Given the description of an element on the screen output the (x, y) to click on. 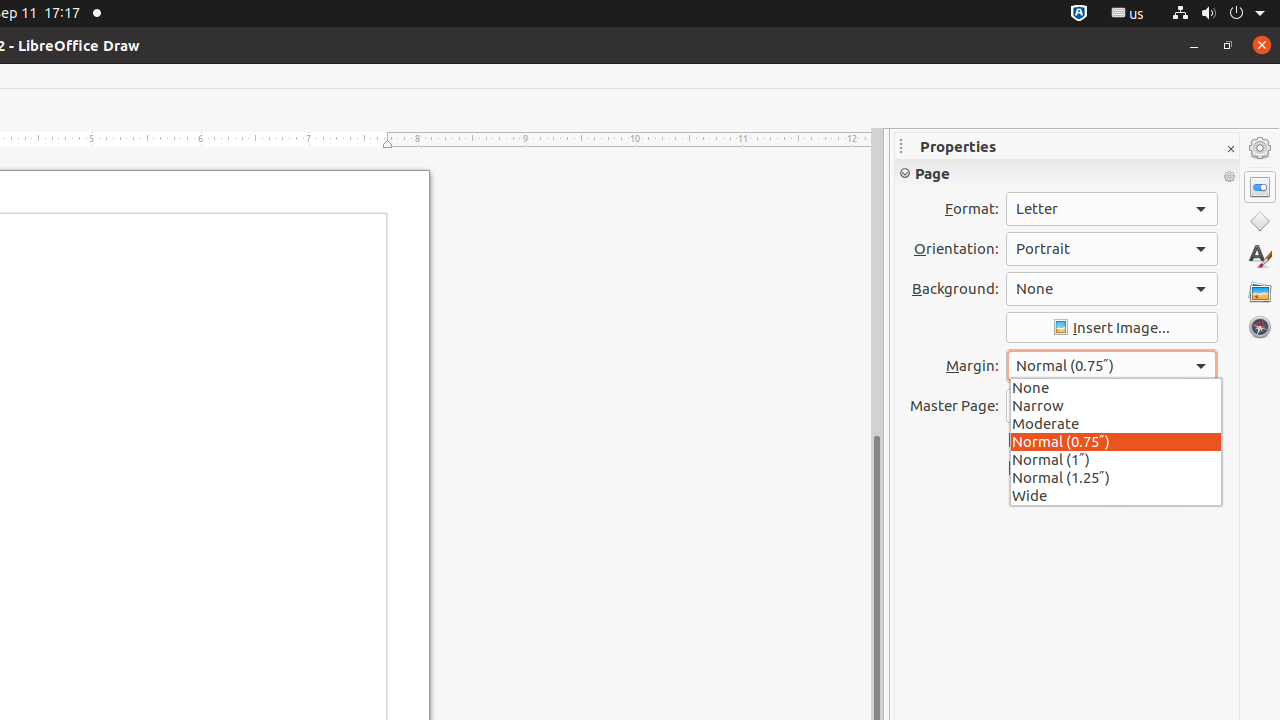
Properties Element type: radio-button (1260, 187)
Normal (1.25″) Element type: list-item (1116, 477)
Wide Element type: list-item (1116, 494)
Styles Element type: radio-button (1260, 256)
Insert Image Element type: push-button (1112, 327)
